Given the description of an element on the screen output the (x, y) to click on. 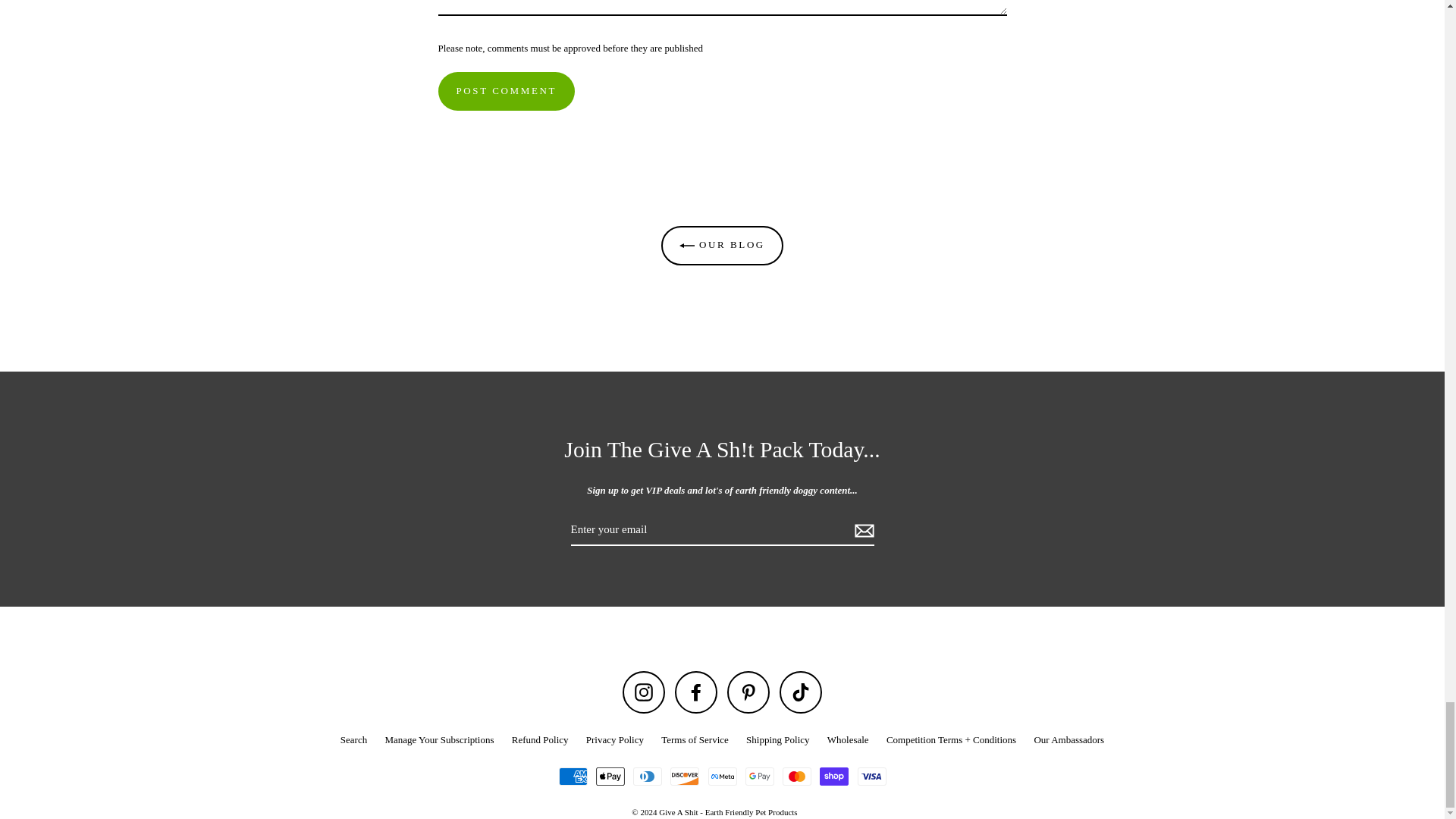
Post comment (506, 90)
Shop Pay (833, 776)
Give A Shit - Earth Friendly Pet Products on Instagram (644, 691)
American Express (571, 776)
Discover (683, 776)
Give A Shit - Earth Friendly Pet Products on TikTok (800, 691)
Google Pay (759, 776)
Give A Shit - Earth Friendly Pet Products on Facebook (696, 691)
Meta Pay (721, 776)
Subscribe (860, 530)
Give A Shit - Earth Friendly Pet Products on Pinterest (748, 691)
Diners Club (647, 776)
Mastercard (796, 776)
Apple Pay (609, 776)
